Given the description of an element on the screen output the (x, y) to click on. 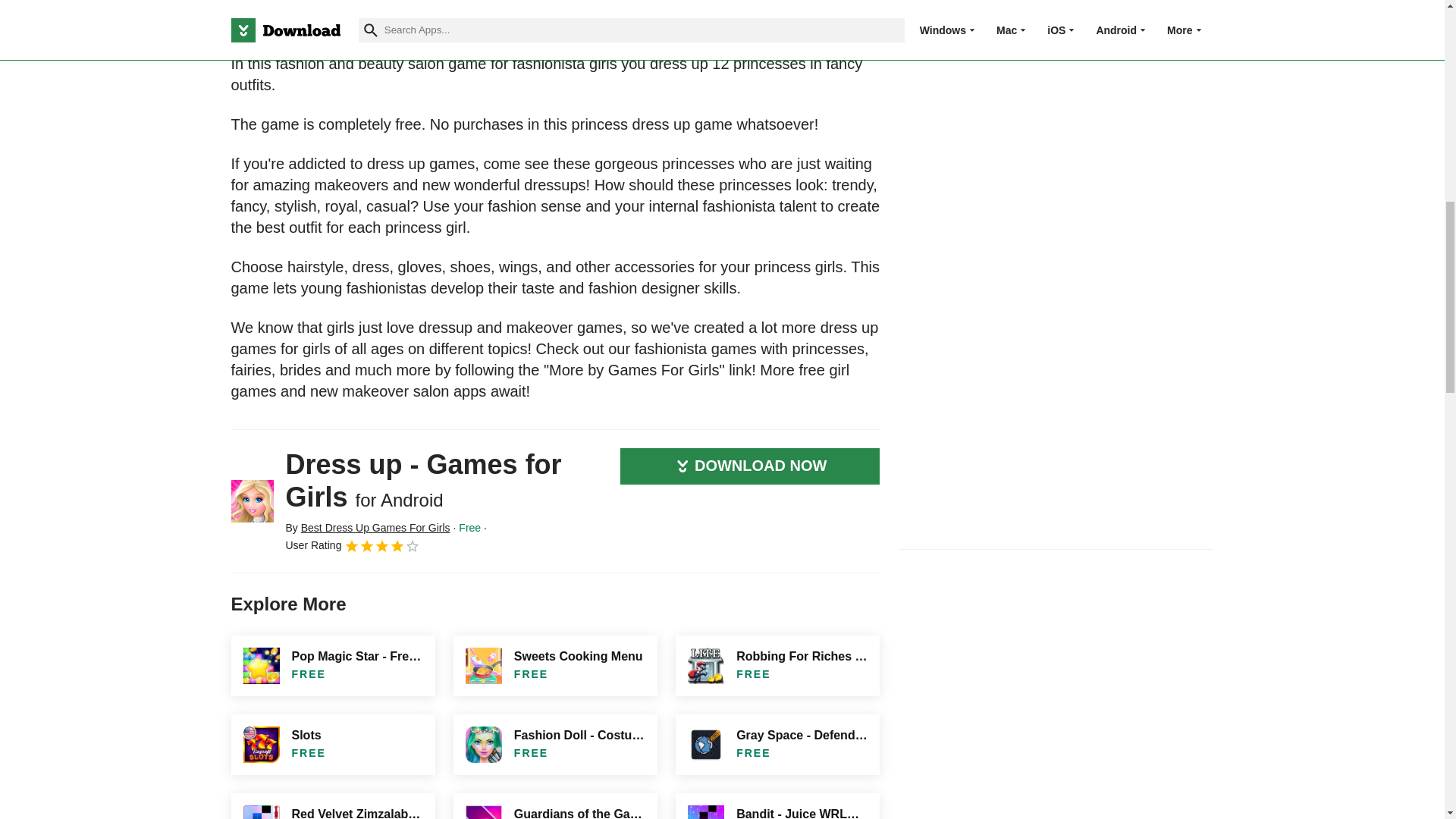
Fashion Doll - Costume Party (555, 744)
Gray Space - Defend Earth from Asteroids (777, 744)
Pop Magic Star - Free Rewards (331, 665)
Red Velvet Zimzalabim Piano Tiles (331, 806)
Dress up - Games for Girls for Android (251, 500)
Guardians of the Galaxy - Zig Zag Beat - Hooked on (555, 806)
Slots (331, 744)
Sweets Cooking Menu (555, 665)
Bandit - Juice WRLD - NBA Youngboy - Piano Tiles (777, 806)
